Given the description of an element on the screen output the (x, y) to click on. 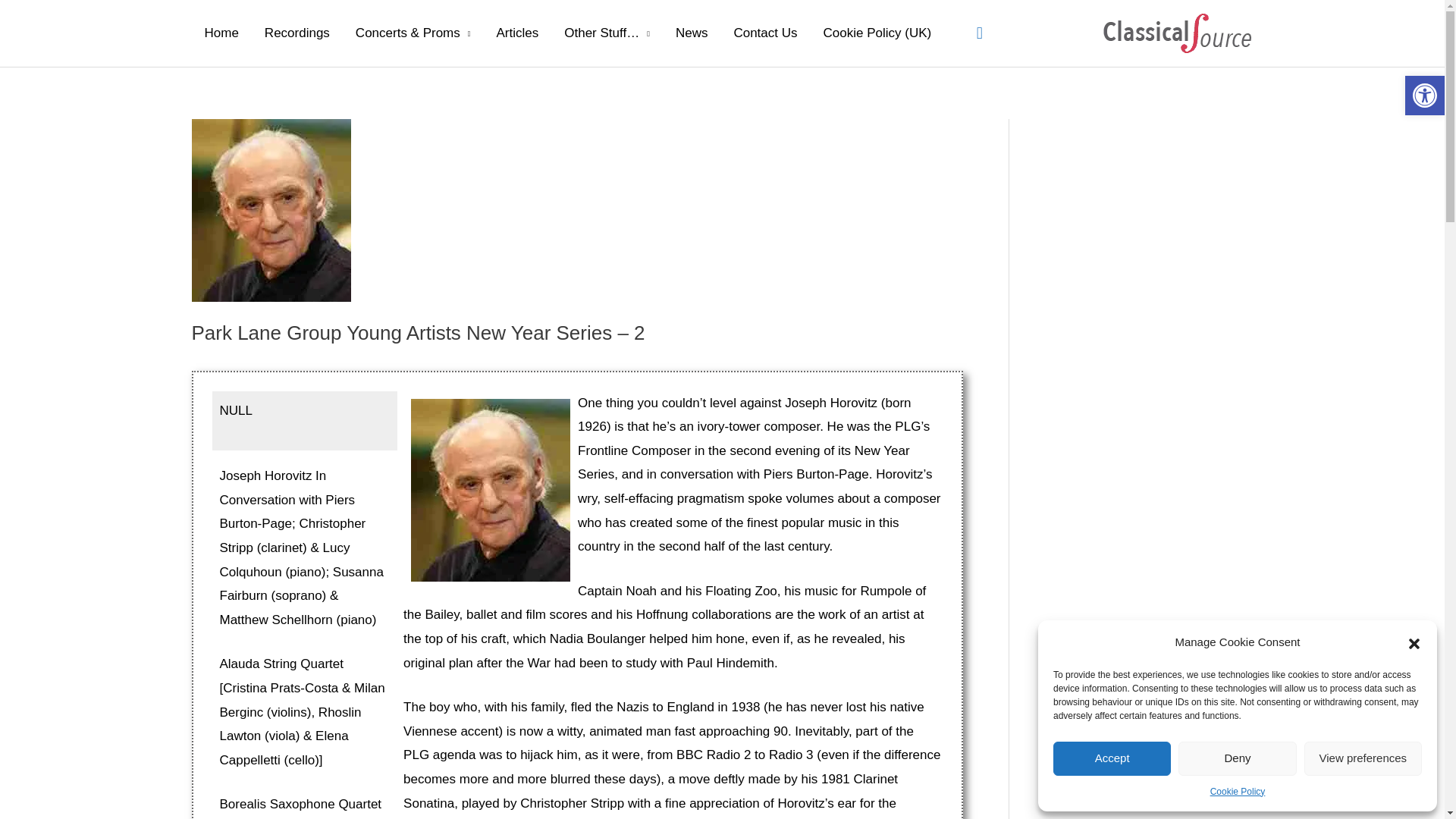
Articles (517, 33)
View preferences (1363, 758)
Accessibility Tools (1424, 95)
Deny (1236, 758)
Cookie Policy (1237, 791)
Recordings (296, 33)
Home (220, 33)
Accept (1111, 758)
